Given the description of an element on the screen output the (x, y) to click on. 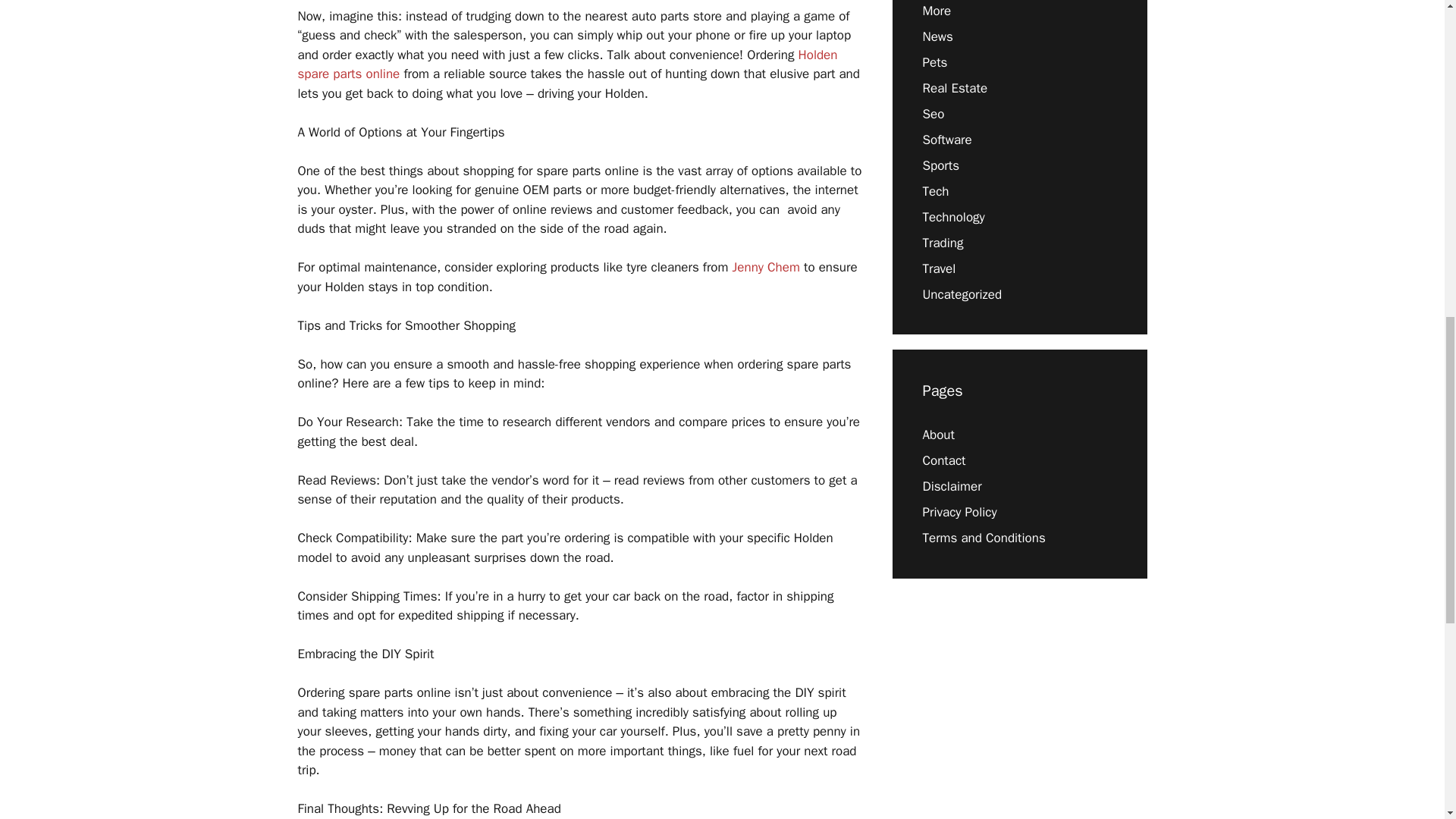
Jenny Chem (765, 267)
Holden spare parts online (567, 64)
